Given the description of an element on the screen output the (x, y) to click on. 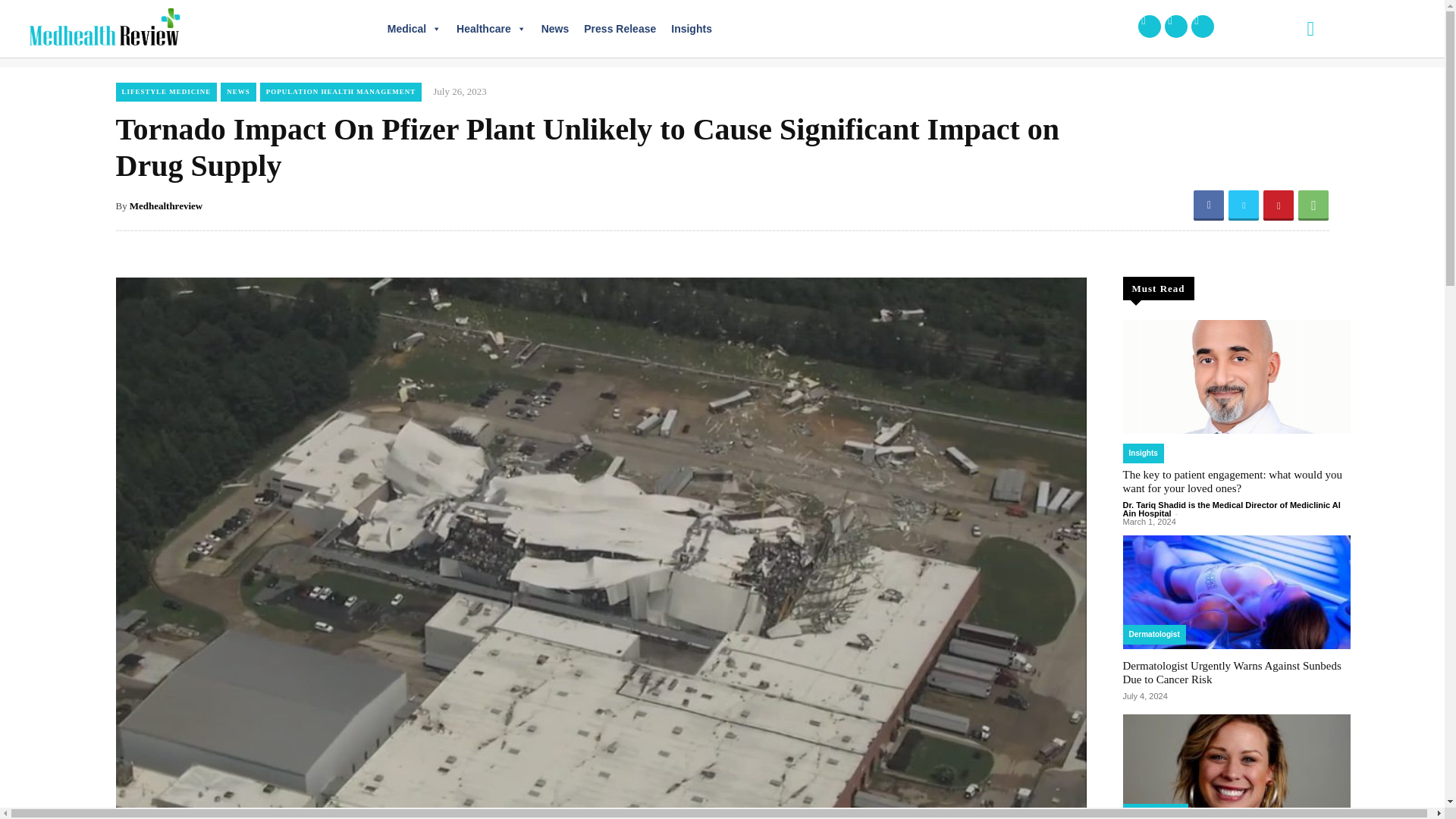
WhatsApp (1312, 205)
Healthcare (491, 28)
Facebook (1208, 205)
Pinterest (1278, 205)
Medical (414, 28)
Twitter (1243, 205)
